Given the description of an element on the screen output the (x, y) to click on. 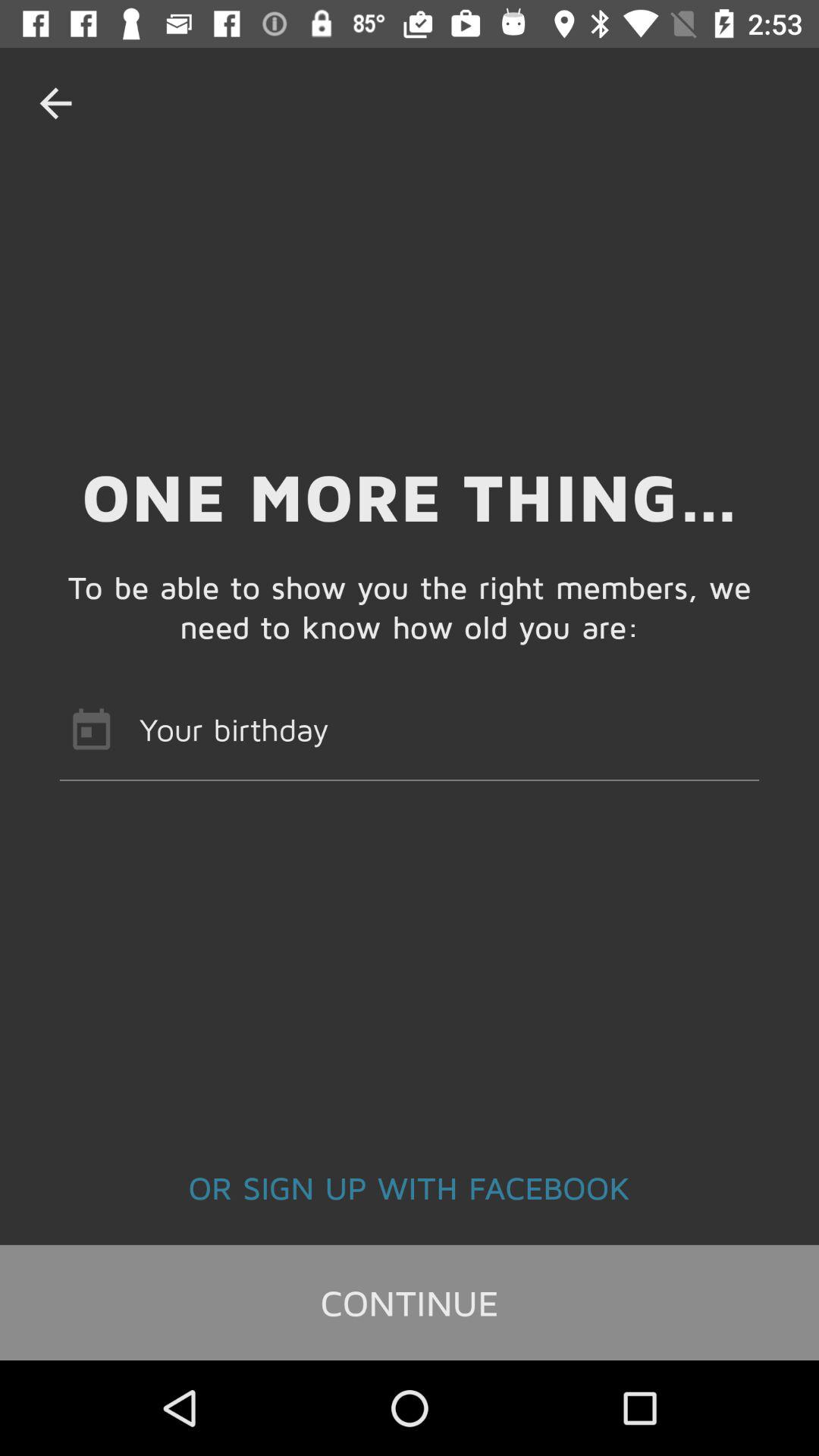
click icon below to be able icon (409, 728)
